Given the description of an element on the screen output the (x, y) to click on. 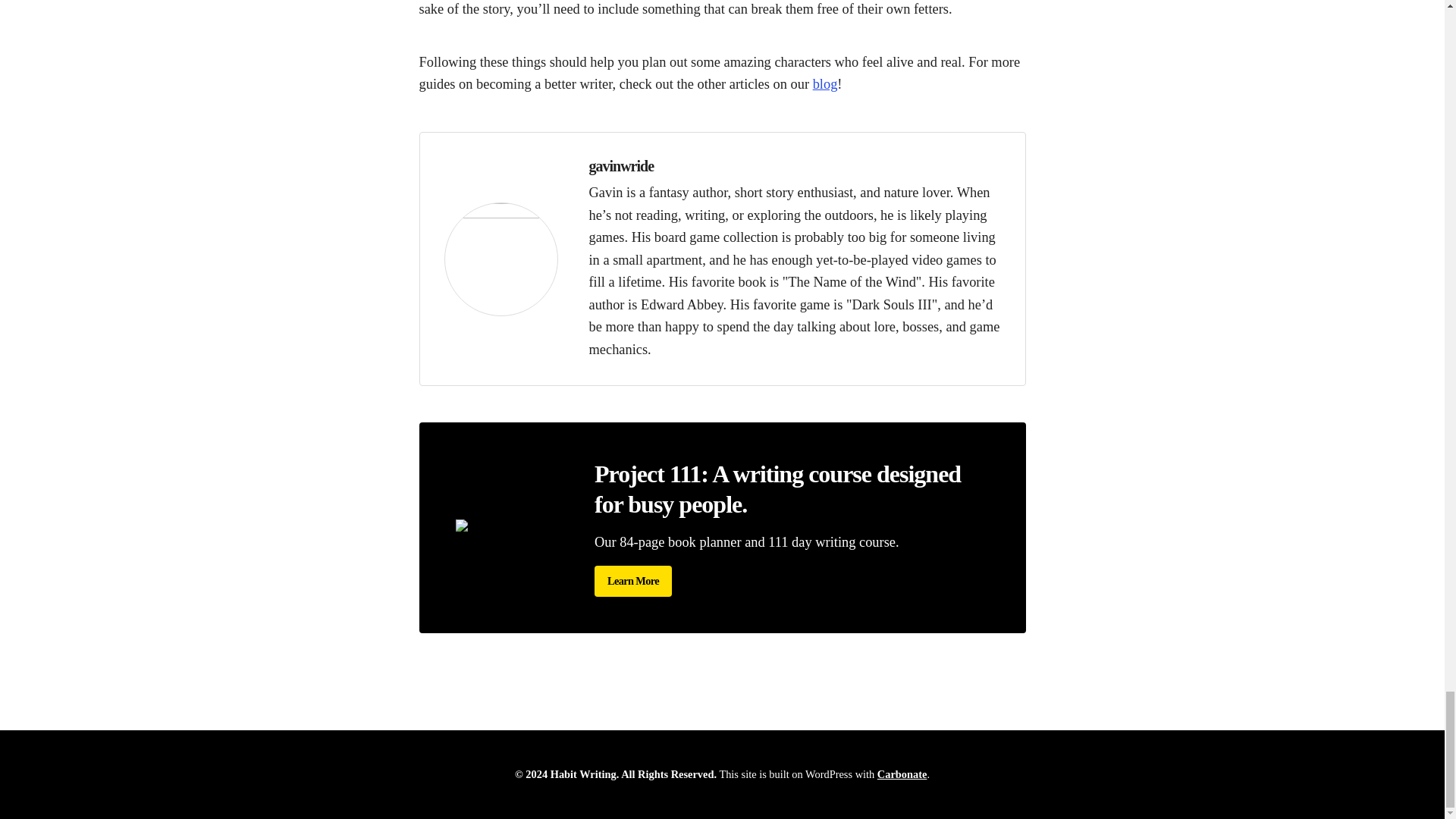
Carbonate (902, 774)
Learn More (632, 580)
blog (825, 83)
